Given the description of an element on the screen output the (x, y) to click on. 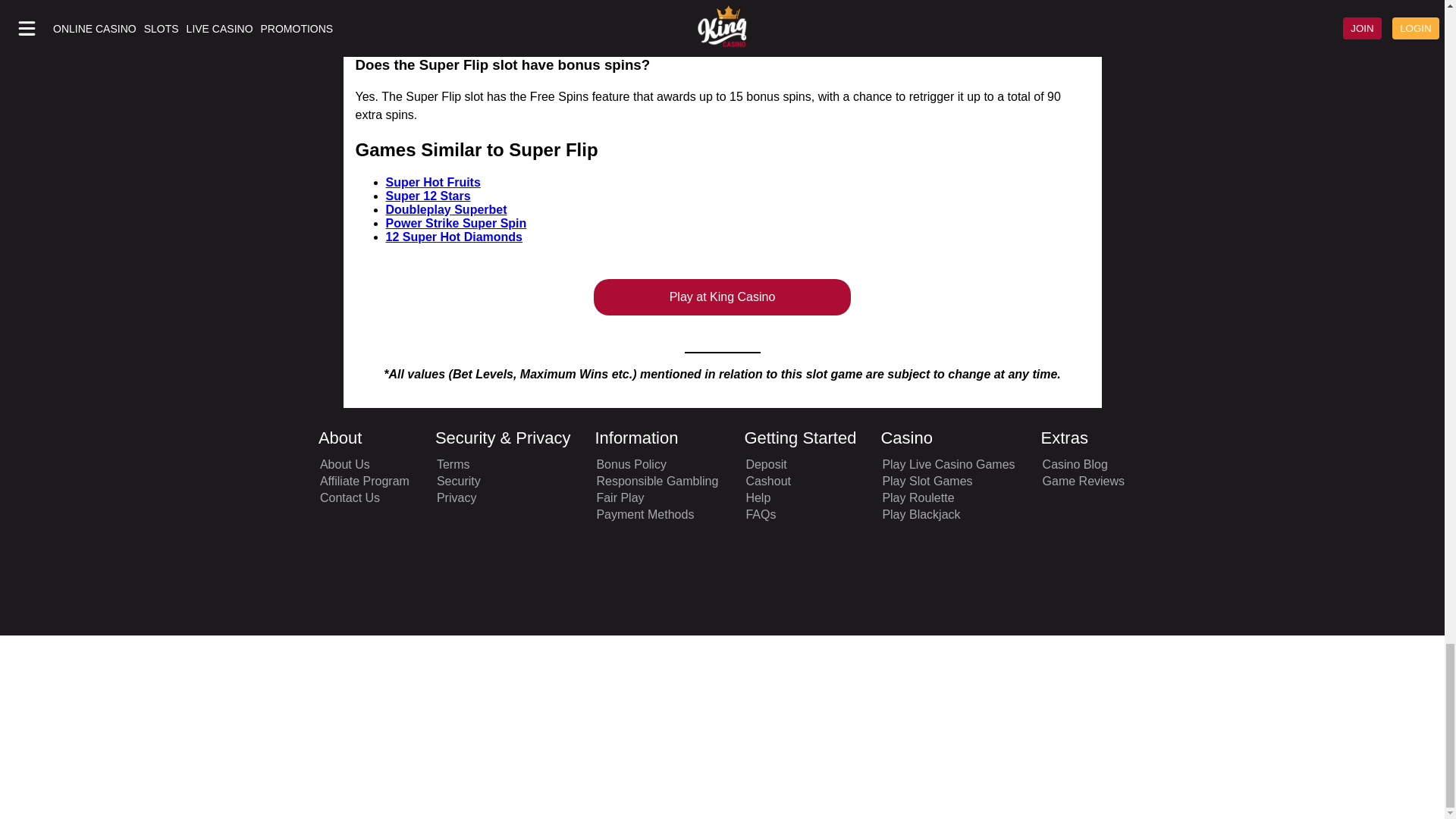
Doubleplay Superbet (445, 209)
Power Strike Super Spin (455, 223)
Super Hot Fruits (432, 182)
12 Super Hot Diamonds (453, 236)
Super 12 Stars (427, 195)
